Given the description of an element on the screen output the (x, y) to click on. 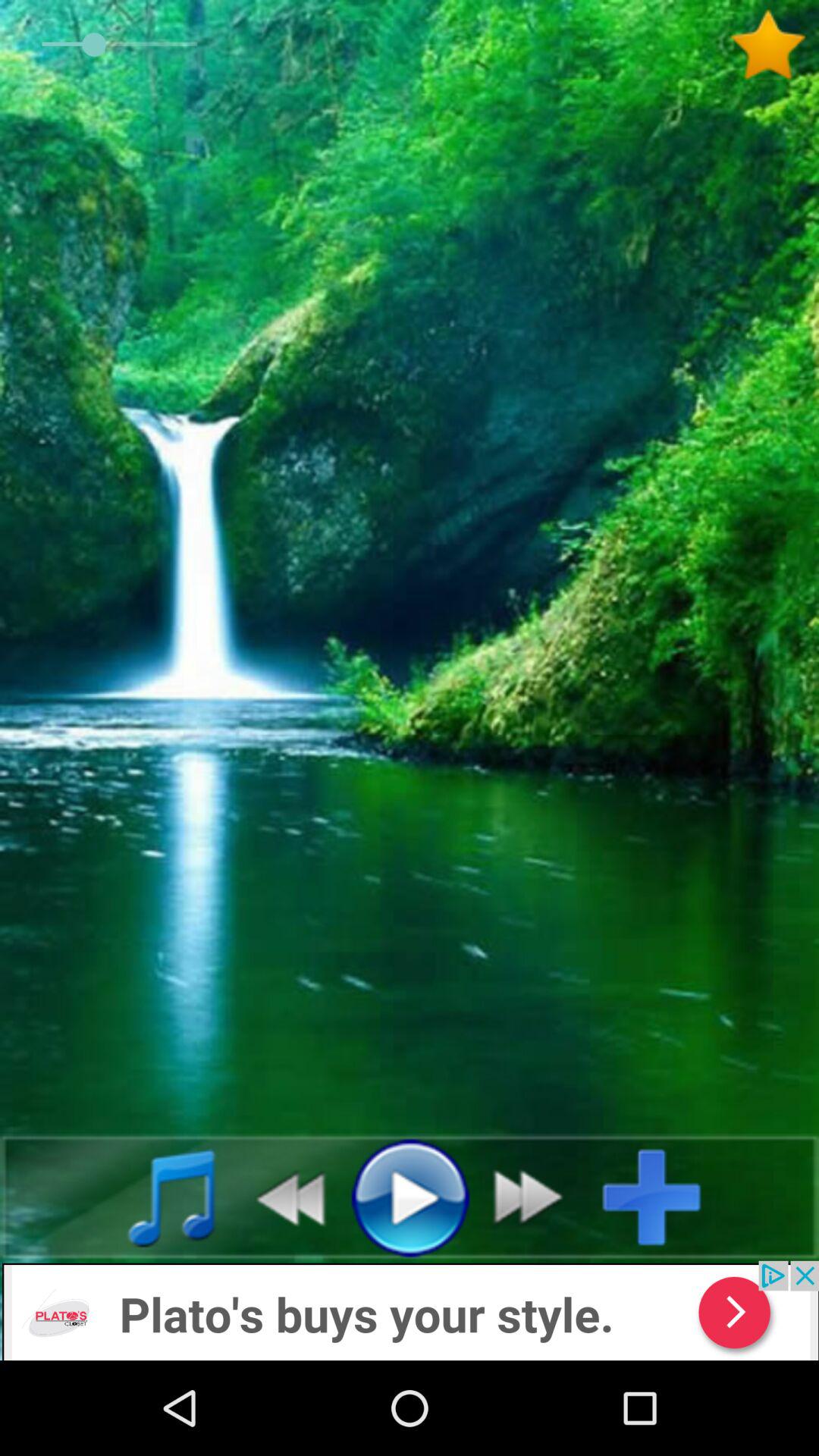
view advertisement (409, 1310)
